Given the description of an element on the screen output the (x, y) to click on. 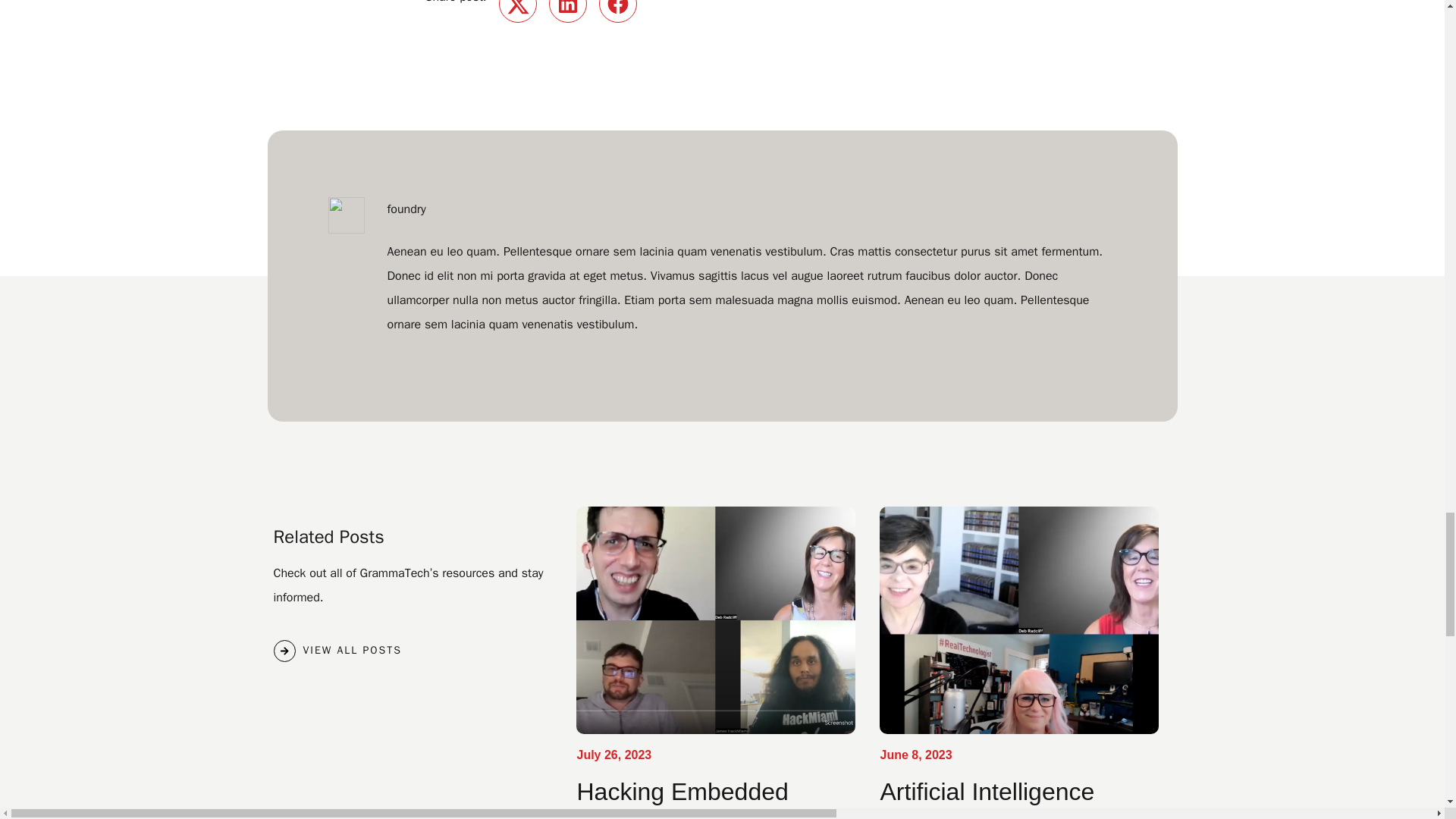
Twitter (518, 11)
Hacking Embedded Applications (681, 798)
VIEW ALL POSTS (337, 650)
LinkedIn (567, 11)
Facebook (617, 11)
